Given the description of an element on the screen output the (x, y) to click on. 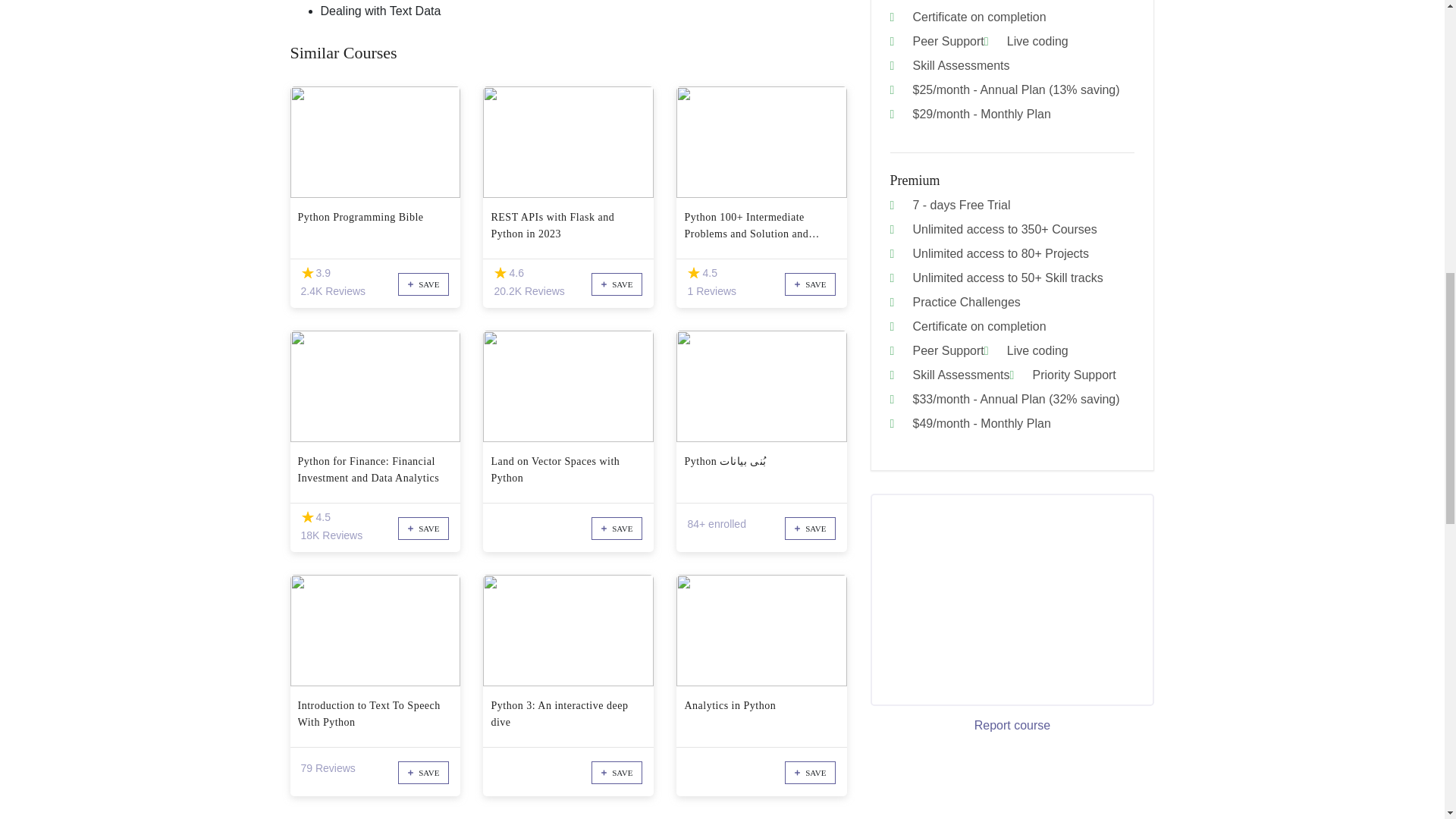
4.5 (693, 273)
SAVE (809, 283)
4.5 (306, 517)
REST APIs with Flask and Python in 2023 (568, 225)
Python for Finance: Financial Investment and Data Analytics (374, 469)
4.6 (499, 273)
SAVE (616, 283)
3.9 (306, 273)
Python Programming Bible (374, 225)
SAVE (422, 283)
